Given the description of an element on the screen output the (x, y) to click on. 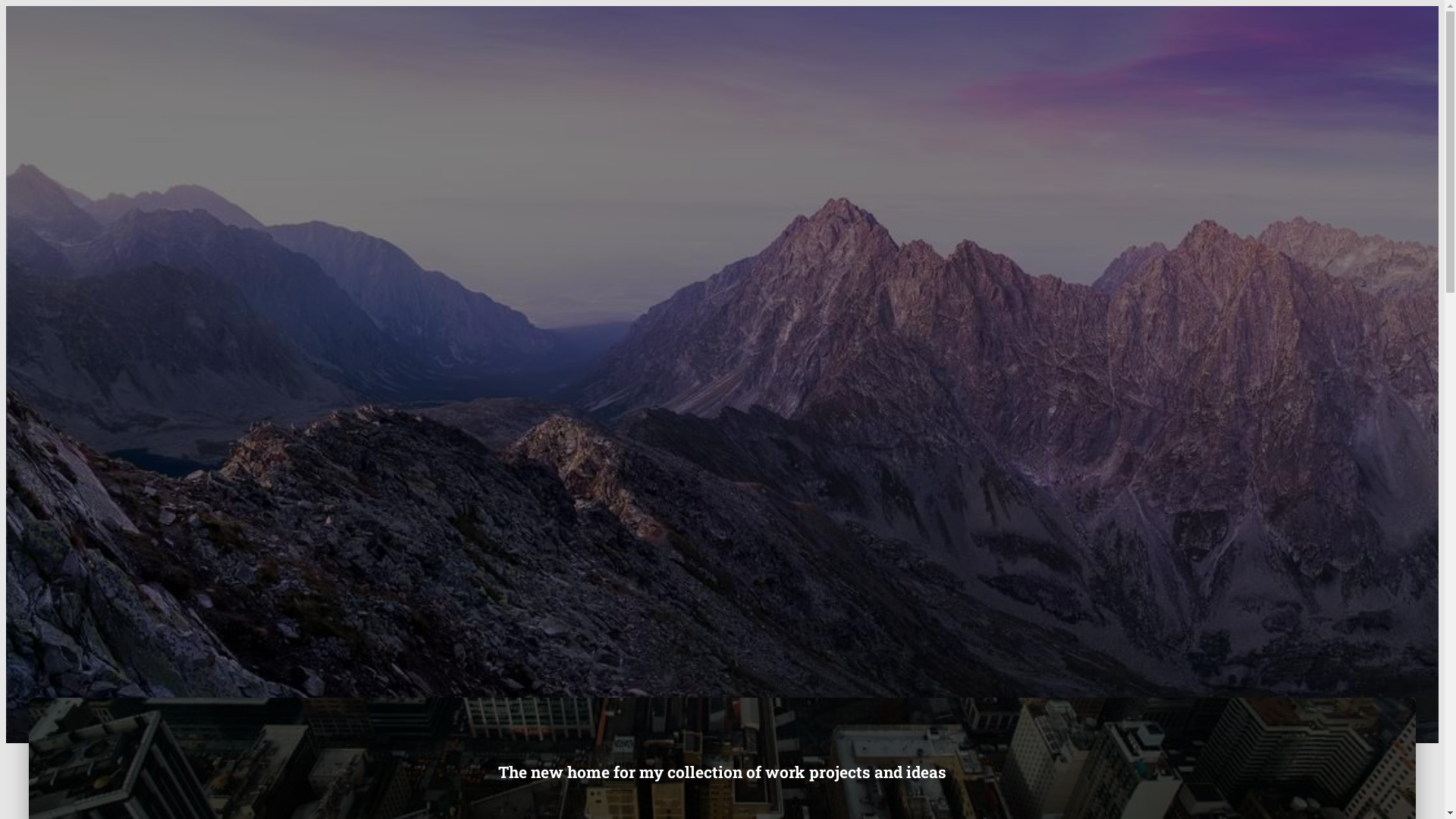
ABOUT ME Element type: text (285, 67)
BLOG Element type: text (318, 67)
CONTACT Element type: text (349, 67)
HOME Element type: text (250, 67)
Grazia Space Element type: text (68, 50)
TOGGLE NAVIGATION Element type: text (87, 100)
